Given the description of an element on the screen output the (x, y) to click on. 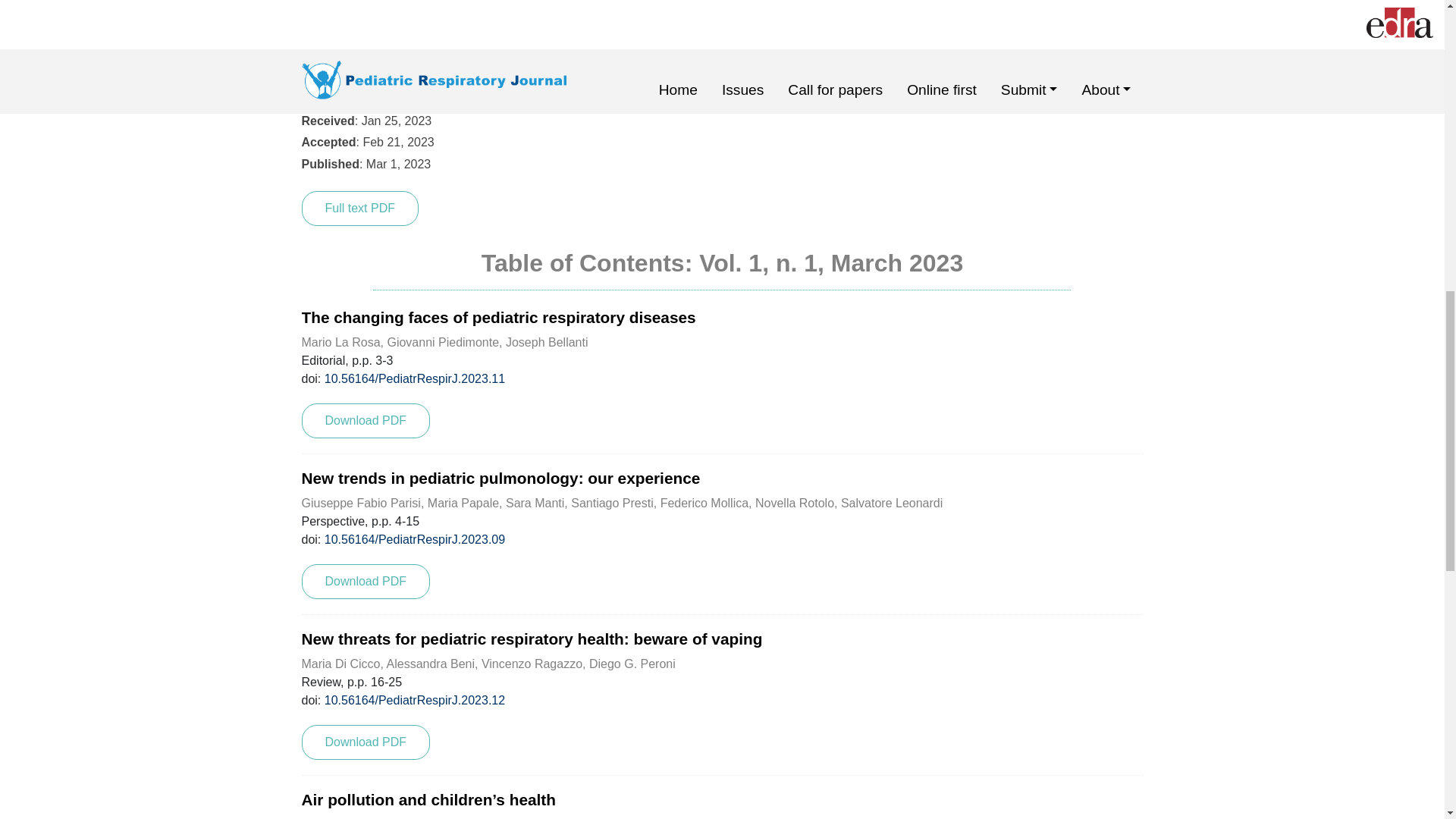
Download PDF (365, 420)
Download PDF (365, 742)
New trends in pediatric pulmonology: our experience (500, 477)
The changing faces of pediatric respiratory diseases (498, 316)
Download PDF (365, 581)
Full text PDF (360, 208)
